Given the description of an element on the screen output the (x, y) to click on. 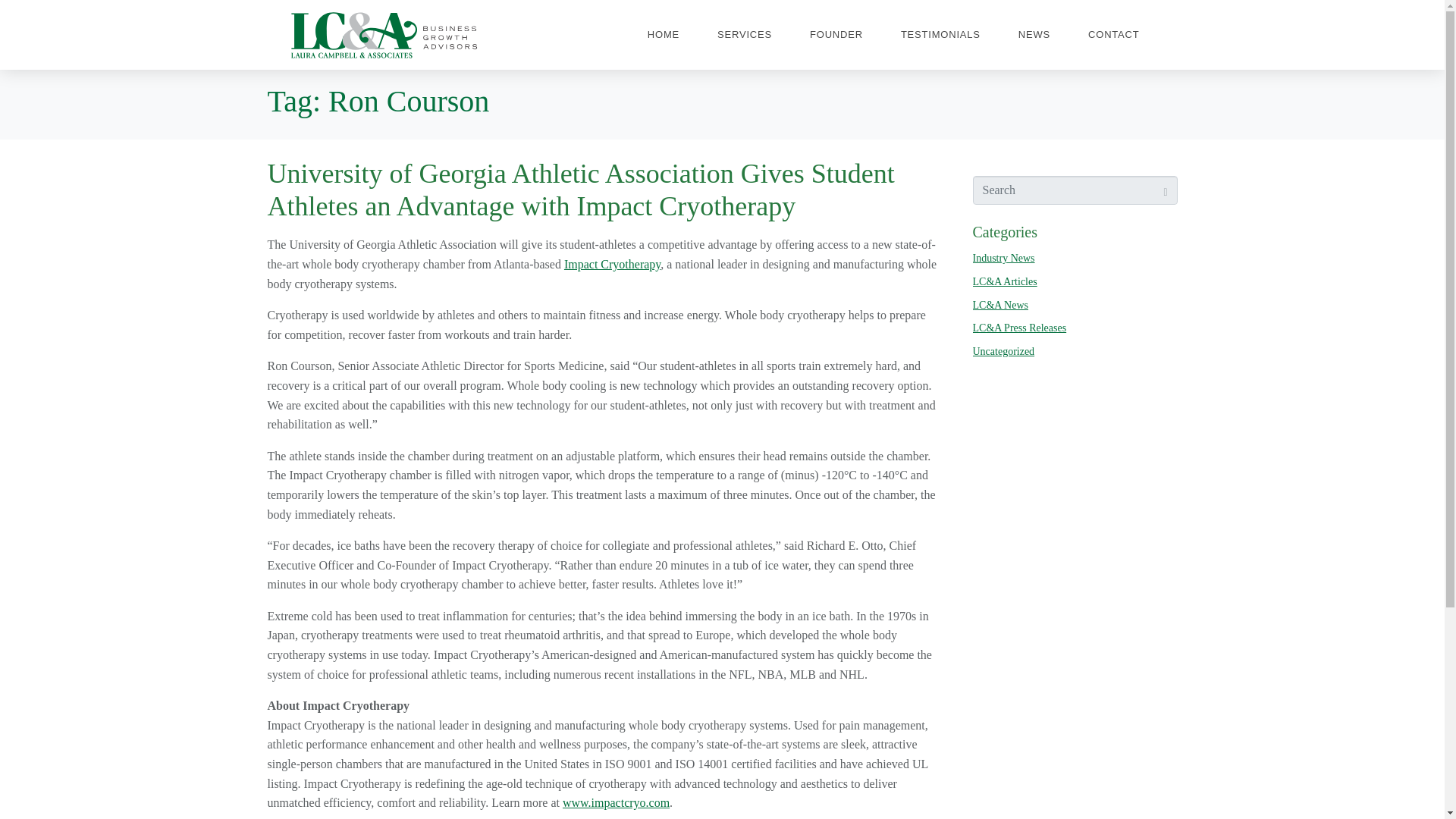
NEWS (1034, 34)
TESTIMONIALS (940, 34)
Uncategorized (1002, 351)
FOUNDER (835, 34)
Impact Cryotherapy (612, 264)
HOME (662, 34)
Industry News (1002, 257)
www.impactcryo.com (615, 802)
